Given the description of an element on the screen output the (x, y) to click on. 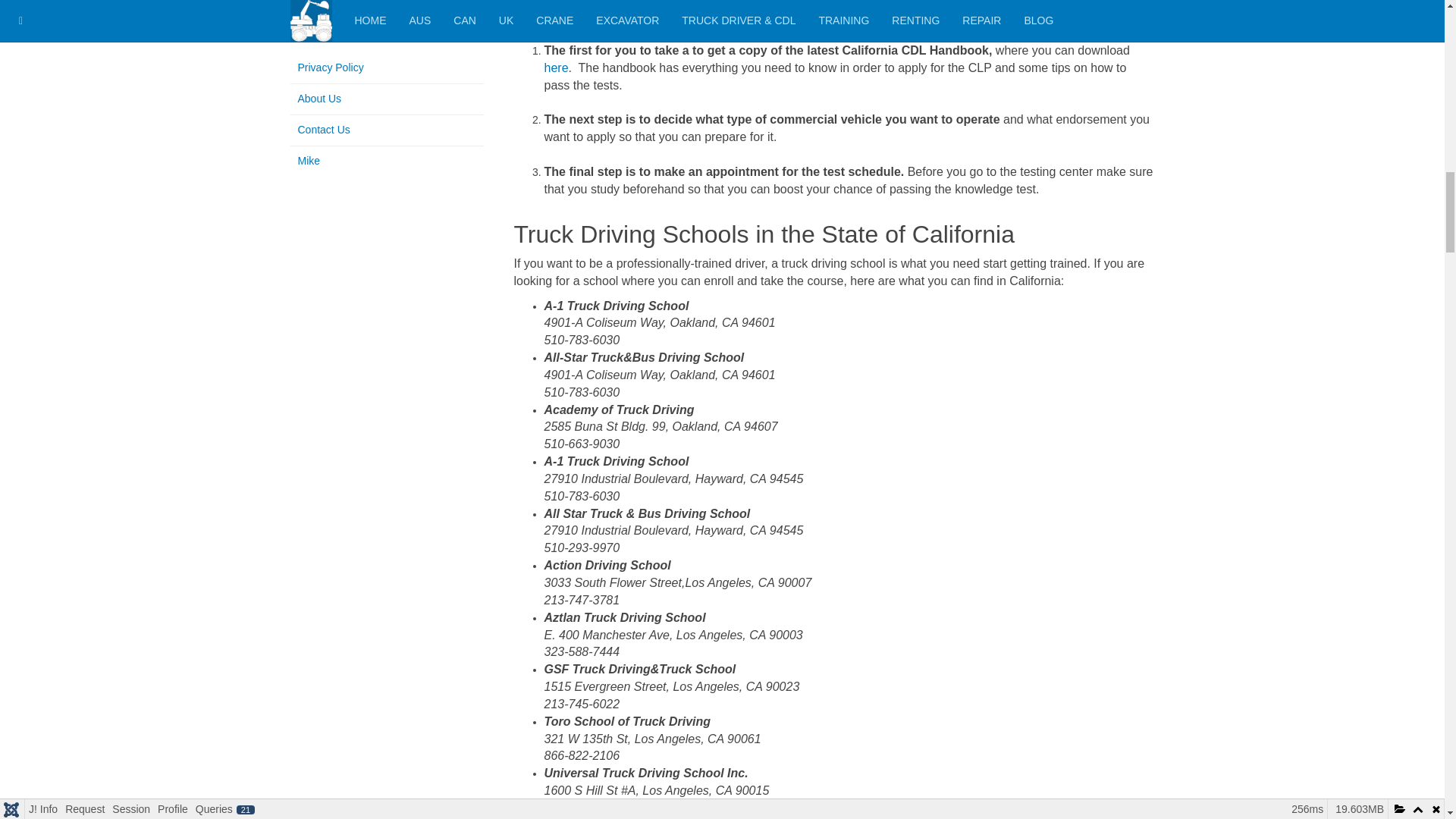
Home (389, 9)
here (556, 67)
Privacy Policy (386, 68)
